Given the description of an element on the screen output the (x, y) to click on. 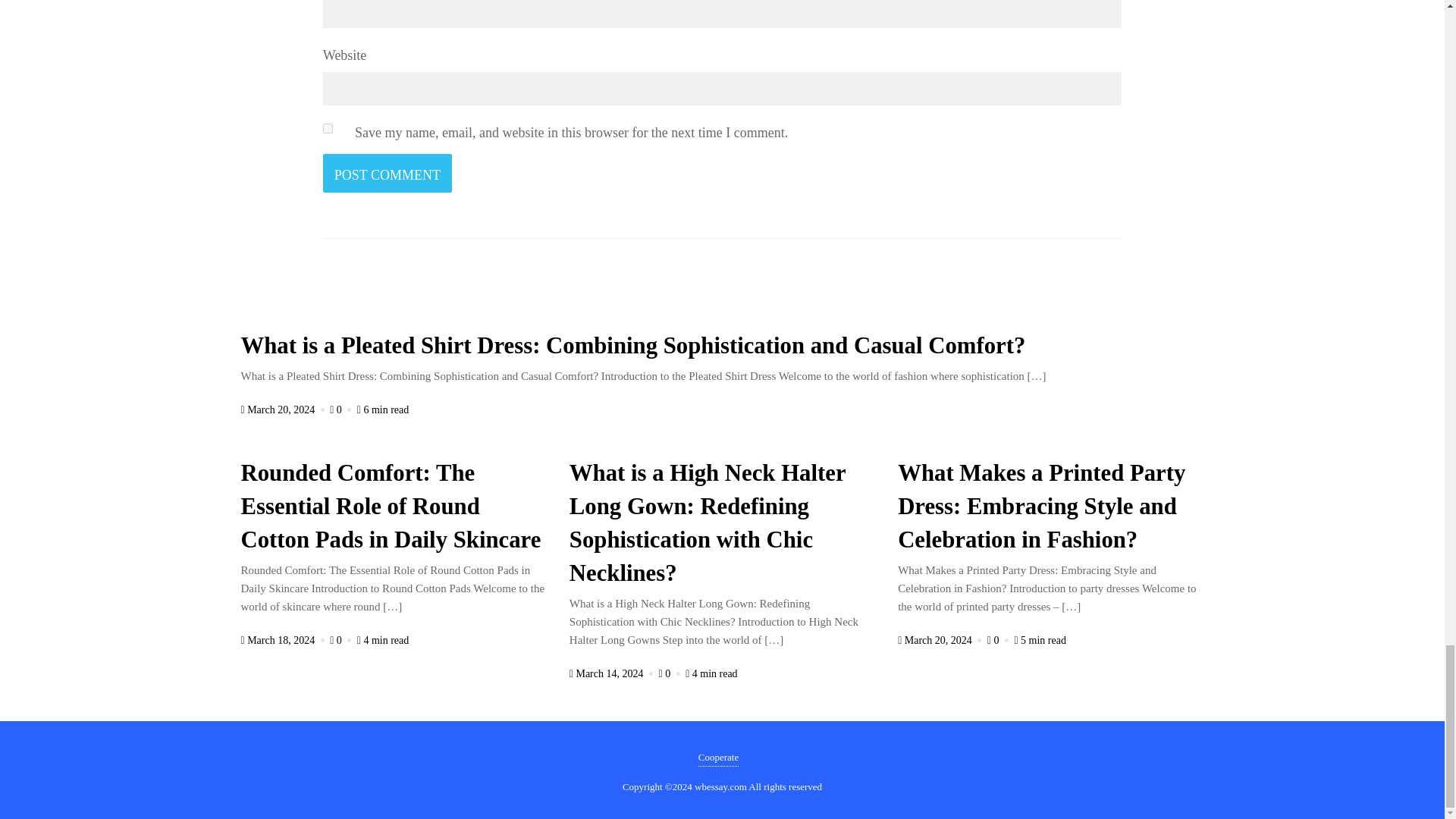
0 (341, 640)
0 (999, 640)
Post Comment (387, 172)
Cooperate (718, 757)
0 (341, 409)
5 min read (1039, 640)
4 min read (711, 673)
